Given the description of an element on the screen output the (x, y) to click on. 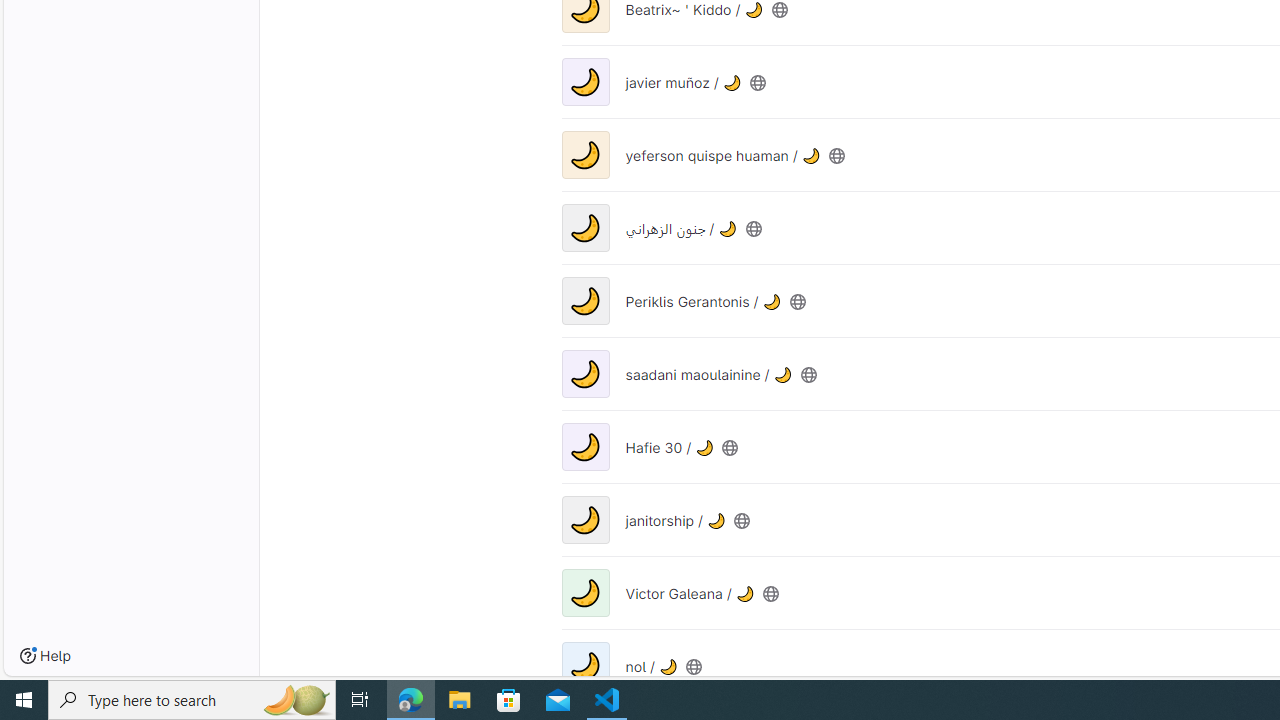
Class: s16 (694, 666)
